Given the description of an element on the screen output the (x, y) to click on. 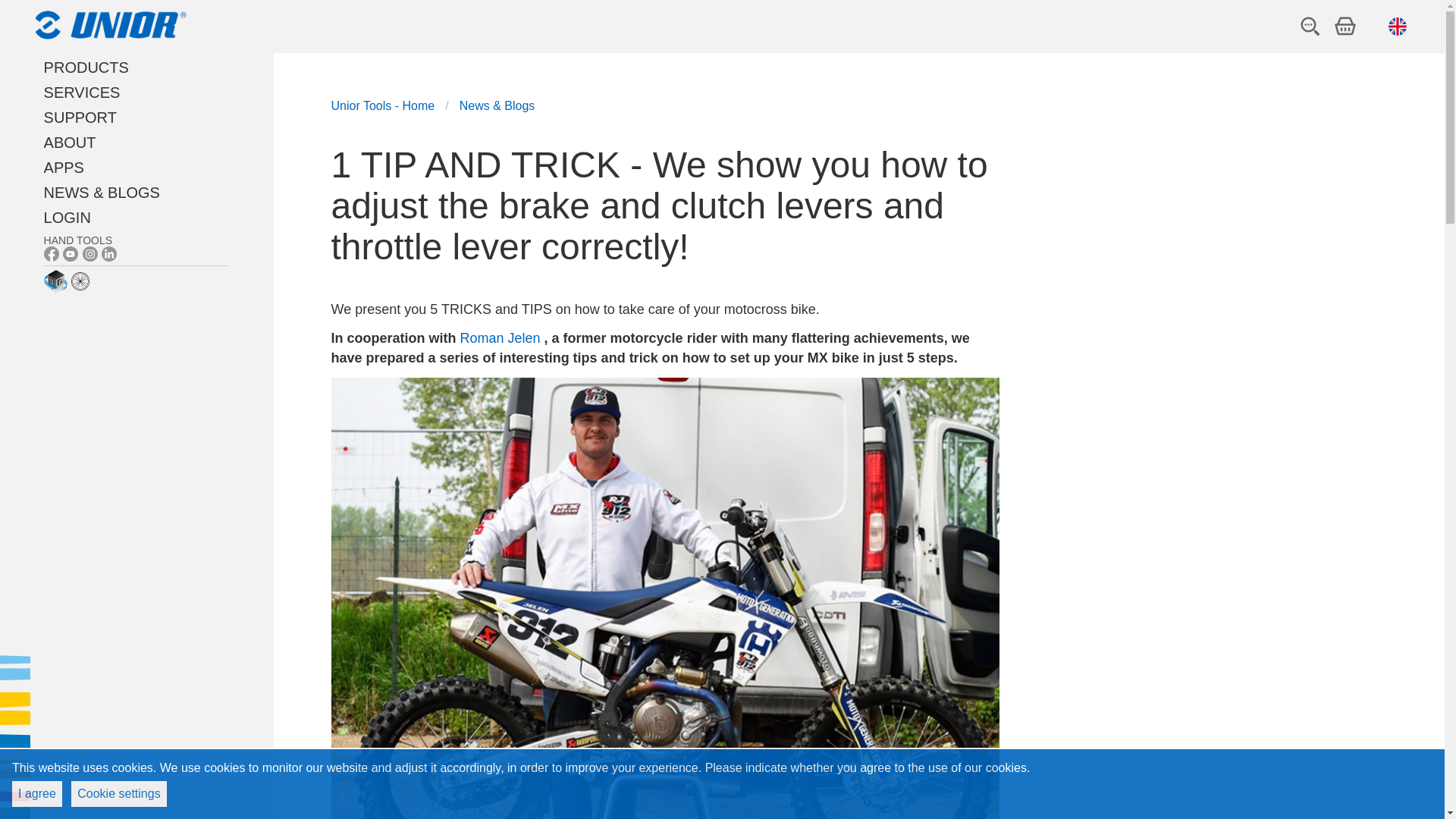
SUPPORT (79, 117)
PRODUCTS (86, 67)
APPS (63, 167)
ABOUT (69, 142)
Roman Jelen (500, 337)
Unior Tools - Home (381, 105)
Login (66, 217)
PRODUCTS (86, 67)
SERVICES  (81, 92)
SERVICES (81, 92)
LOGIN (66, 217)
SUPPORT (79, 117)
ABOUT (69, 142)
APPS (63, 167)
